Given the description of an element on the screen output the (x, y) to click on. 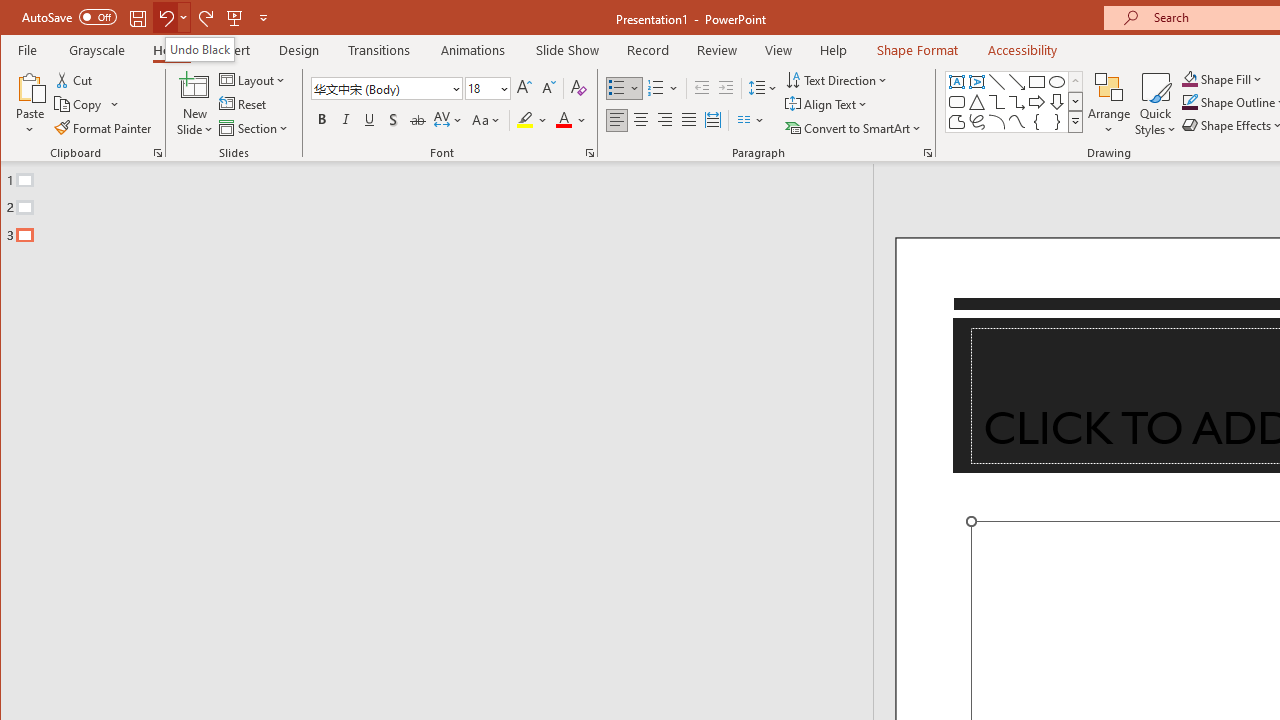
Font... (589, 152)
Numbering (655, 88)
Quick Styles (1155, 104)
Line Spacing (764, 88)
Freeform: Shape (956, 121)
Increase Indent (726, 88)
Paste (29, 86)
Shadow (393, 119)
Vertical Text Box (976, 82)
